Given the description of an element on the screen output the (x, y) to click on. 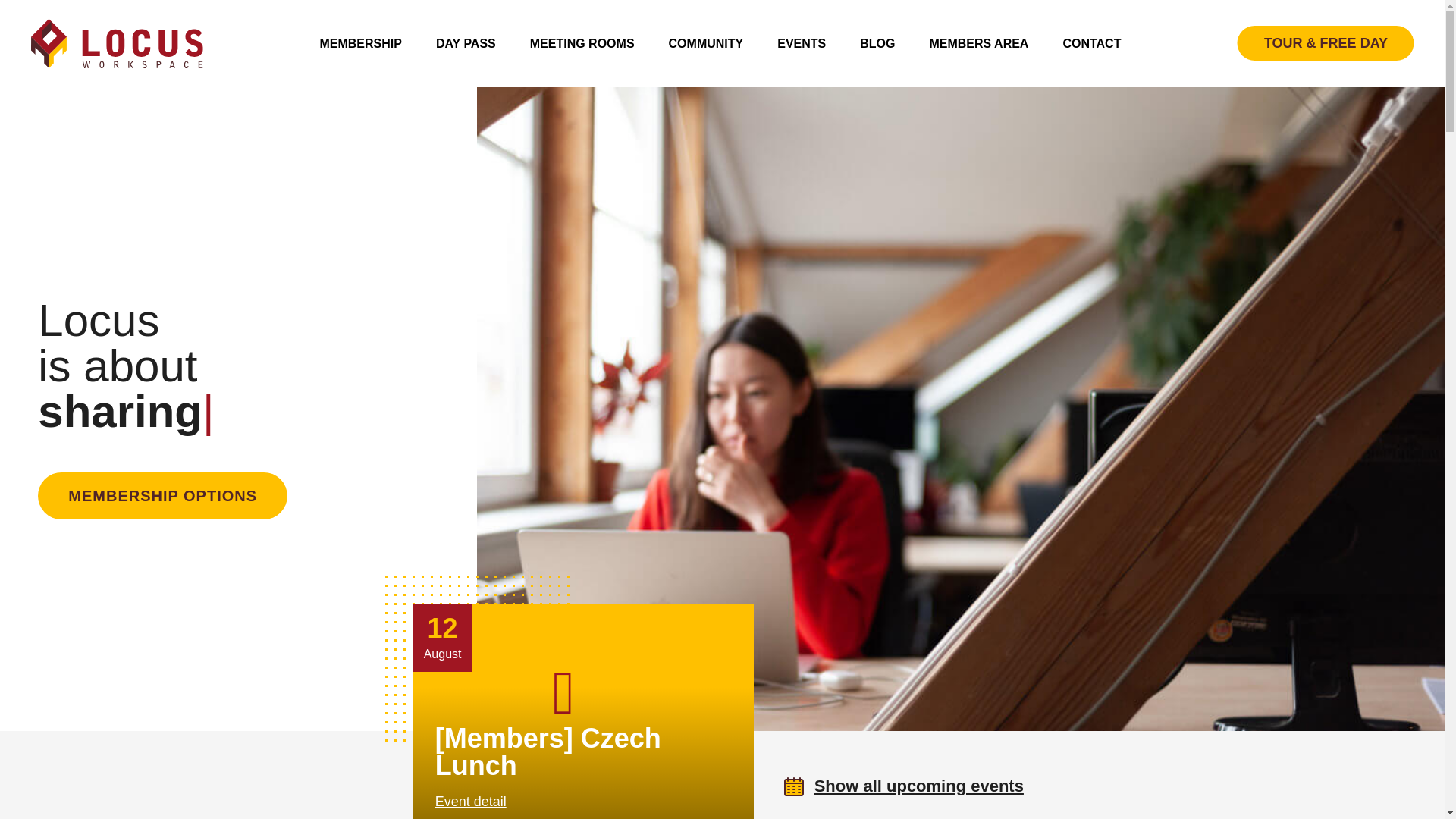
BLOG (877, 43)
MEETING ROOMS (581, 43)
MEMBERSHIP (359, 43)
DAY PASS (465, 43)
EVENTS (801, 43)
CONTACT (1091, 43)
MEMBERS AREA (977, 43)
MEMBERSHIP OPTIONS (161, 495)
Show all upcoming events (903, 786)
COMMUNITY (706, 43)
